Given the description of an element on the screen output the (x, y) to click on. 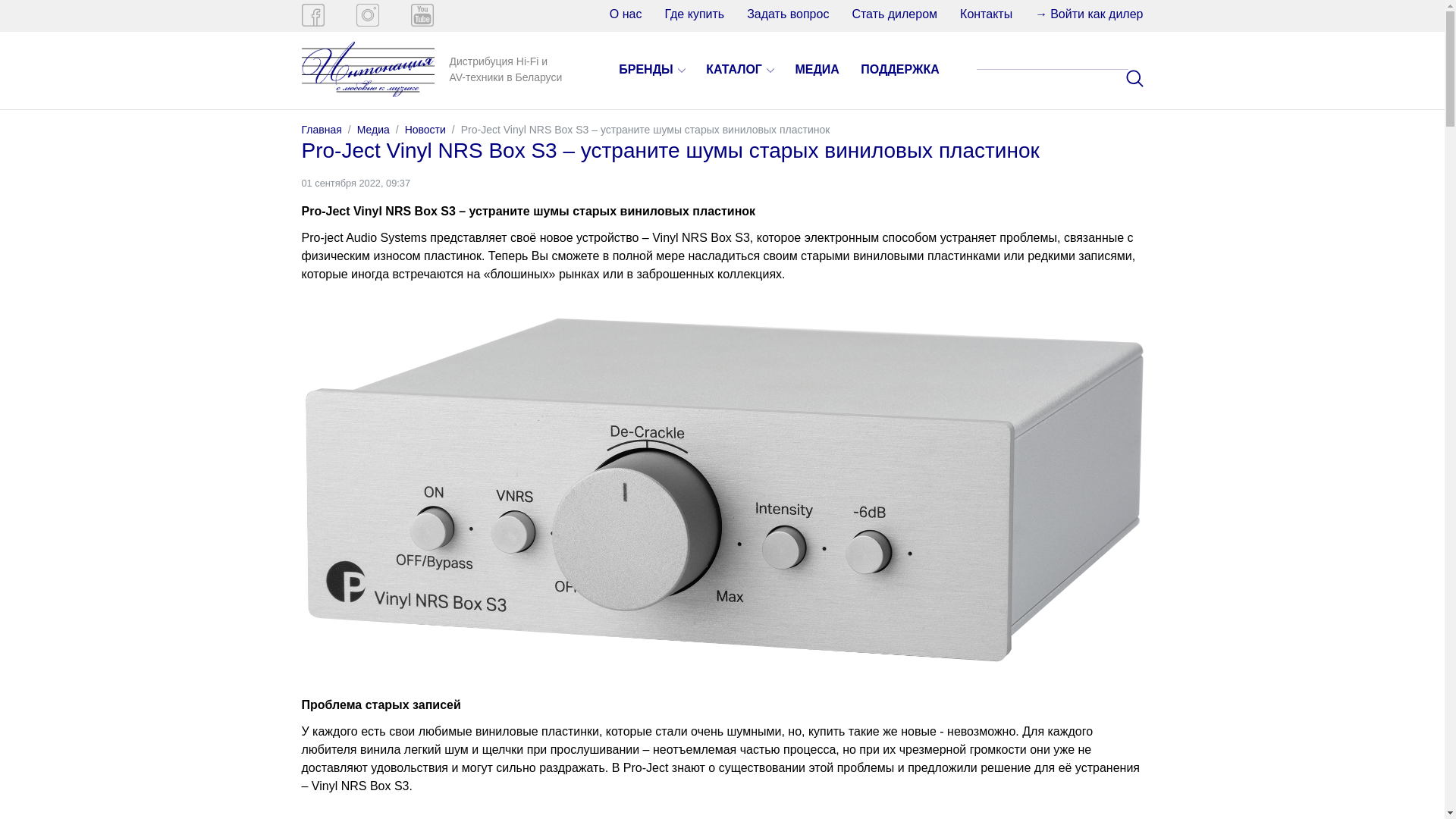
Instagram Element type: hover (367, 14)
Facebook Element type: hover (312, 14)
YouTube Element type: hover (422, 14)
